Given the description of an element on the screen output the (x, y) to click on. 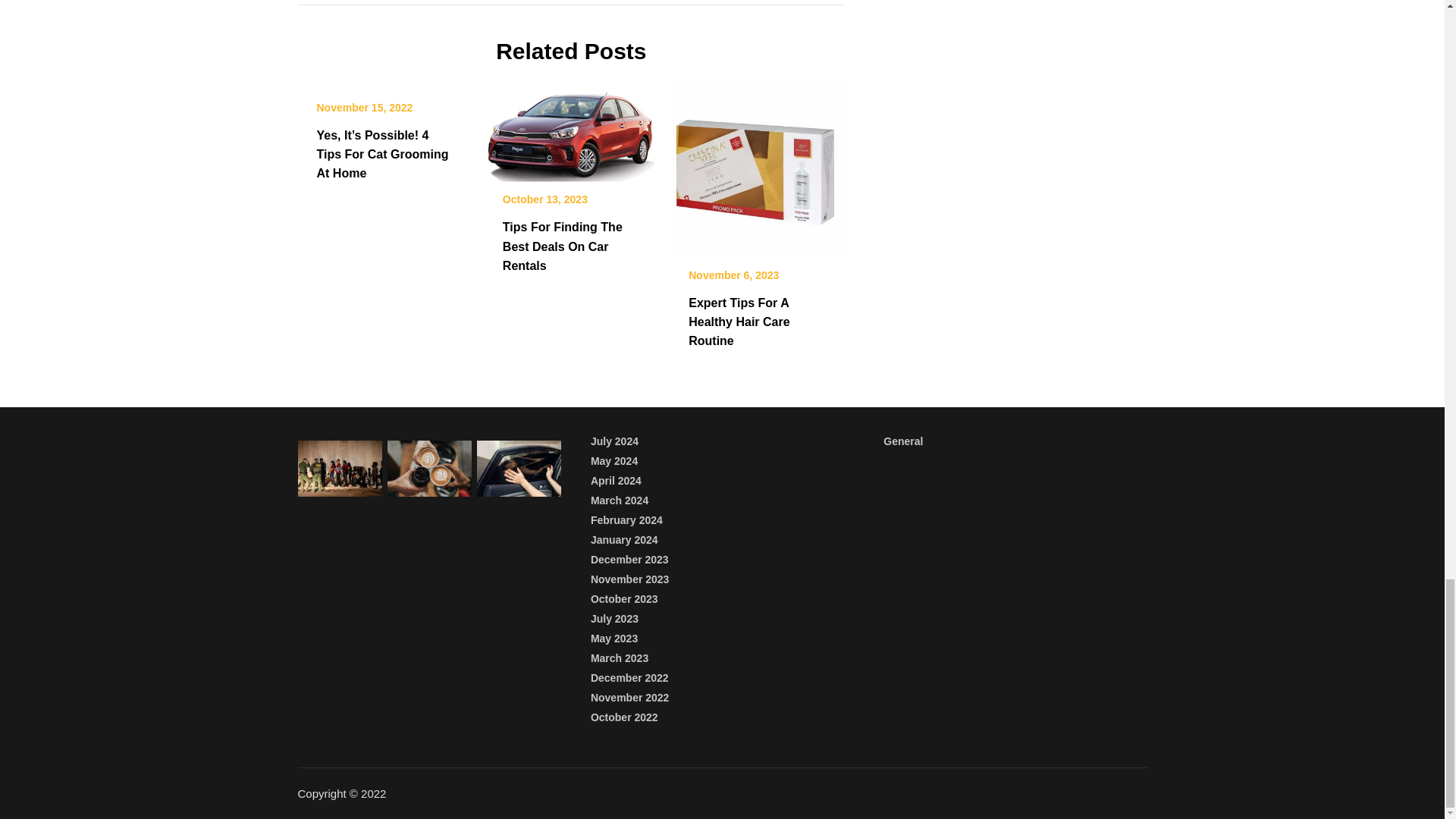
Tips For Finding The Best Deals On Car Rentals (571, 127)
Expert Tips For A Healthy Hair Care Routine (738, 321)
Tips For Finding The Best Deals On Car Rentals (562, 245)
Expert Tips For A Healthy Hair Care Routine (756, 164)
